Given the description of an element on the screen output the (x, y) to click on. 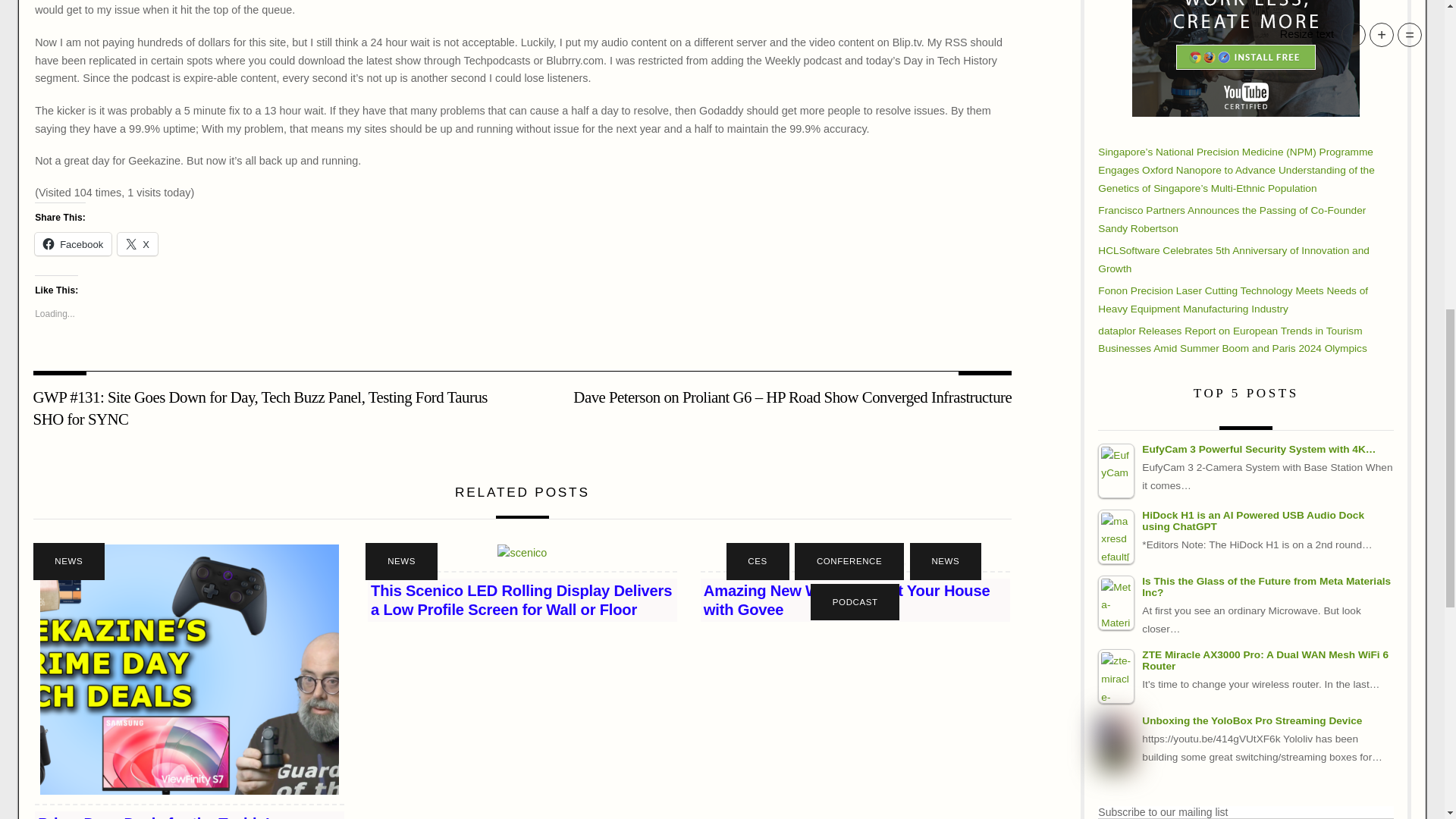
govee (855, 553)
Click to share on X (137, 243)
PDTD24 (189, 669)
scenico (522, 553)
Click to share on Facebook (73, 243)
